Given the description of an element on the screen output the (x, y) to click on. 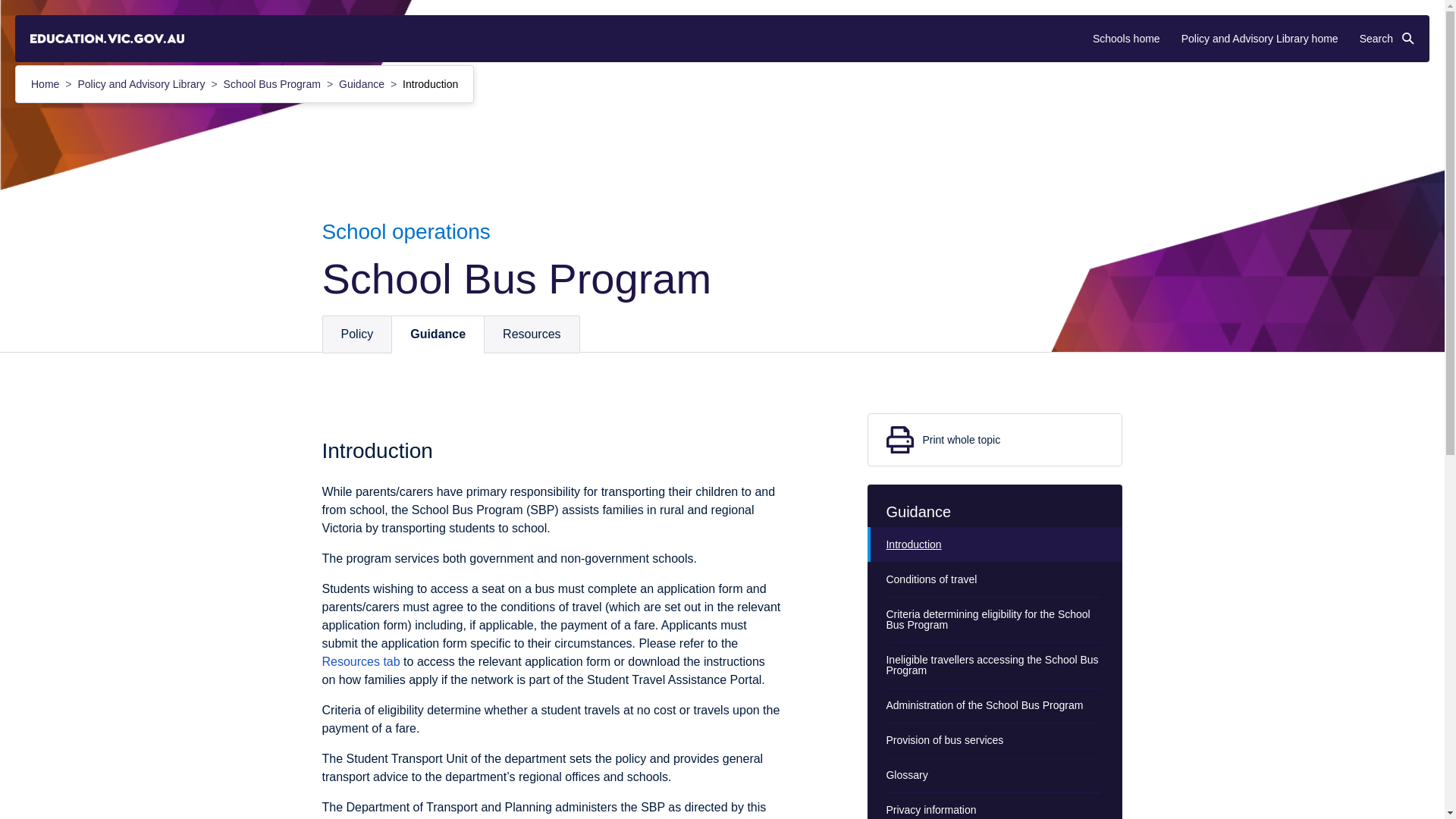
Policy and Advisory Library (142, 83)
Print whole topic (994, 439)
Policy (357, 334)
Search (1386, 38)
Policy and Advisory Library home (1259, 38)
School Bus Program (273, 83)
Provision of bus services (994, 739)
Administration of the School Bus Program (994, 704)
Privacy information (994, 805)
Home (46, 83)
